Given the description of an element on the screen output the (x, y) to click on. 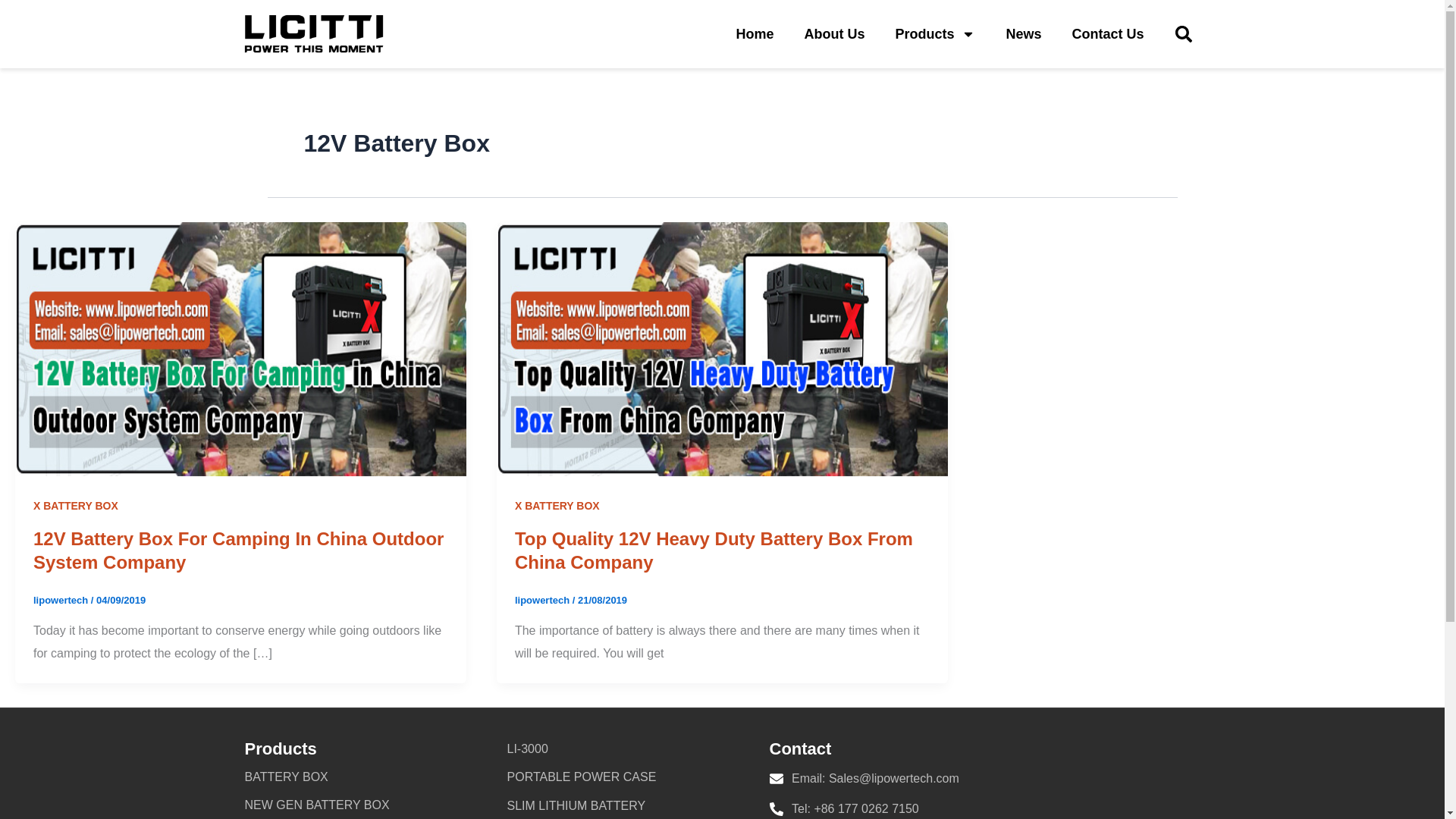
Home (754, 33)
About Us (834, 33)
Products (934, 33)
View all posts by lipowertech (543, 600)
News (1023, 33)
View all posts by lipowertech (61, 600)
Contact Us (1107, 33)
